Given the description of an element on the screen output the (x, y) to click on. 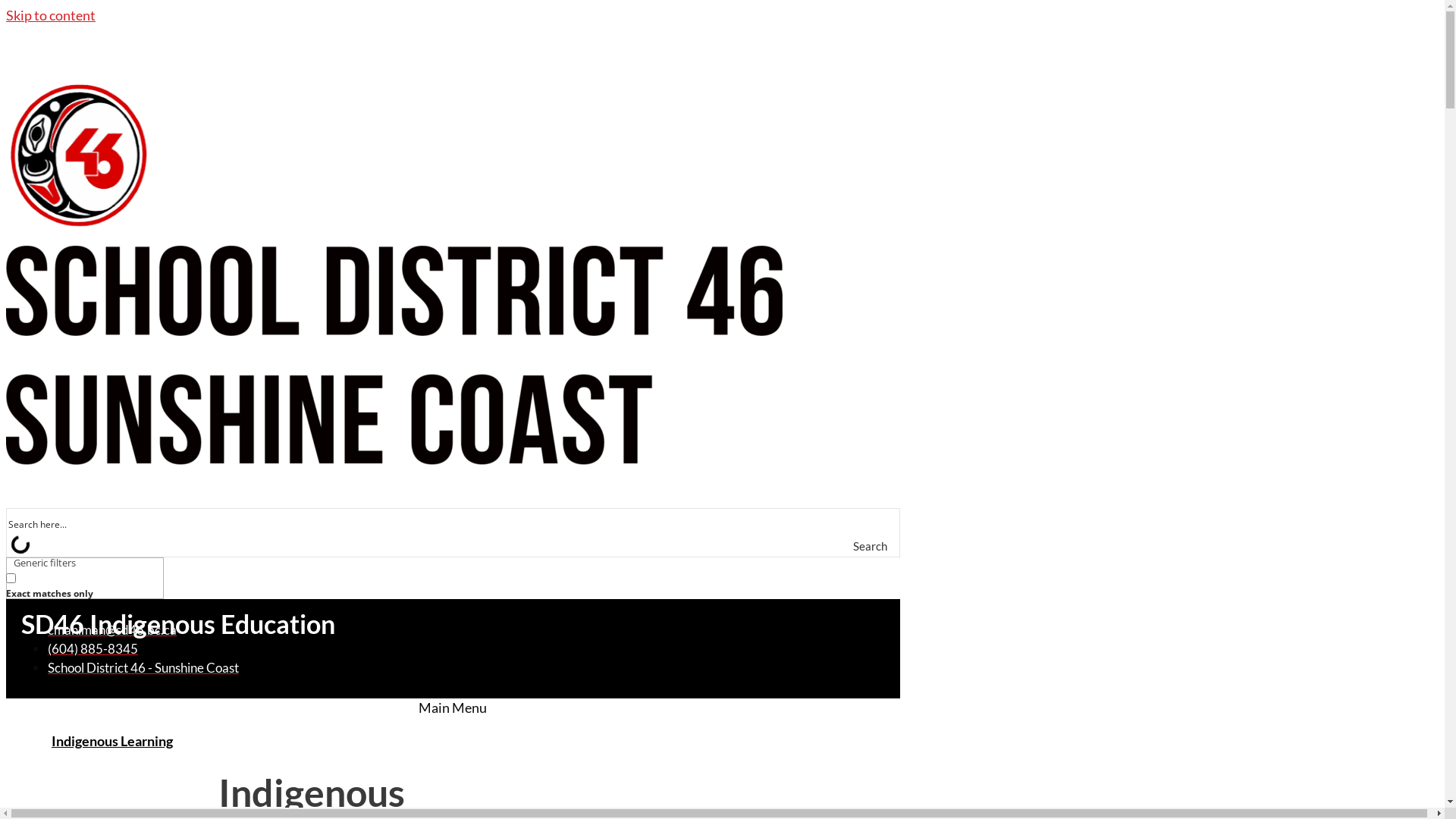
Skip to content Element type: text (50, 14)
Indigenous Learning Element type: text (112, 740)
Search Element type: text (883, 545)
cmahlman@sd46.bc.ca Element type: text (111, 629)
School District 46 - Sunshine Coast Element type: text (142, 667)
(604) 885-8345 Element type: text (92, 648)
